Given the description of an element on the screen output the (x, y) to click on. 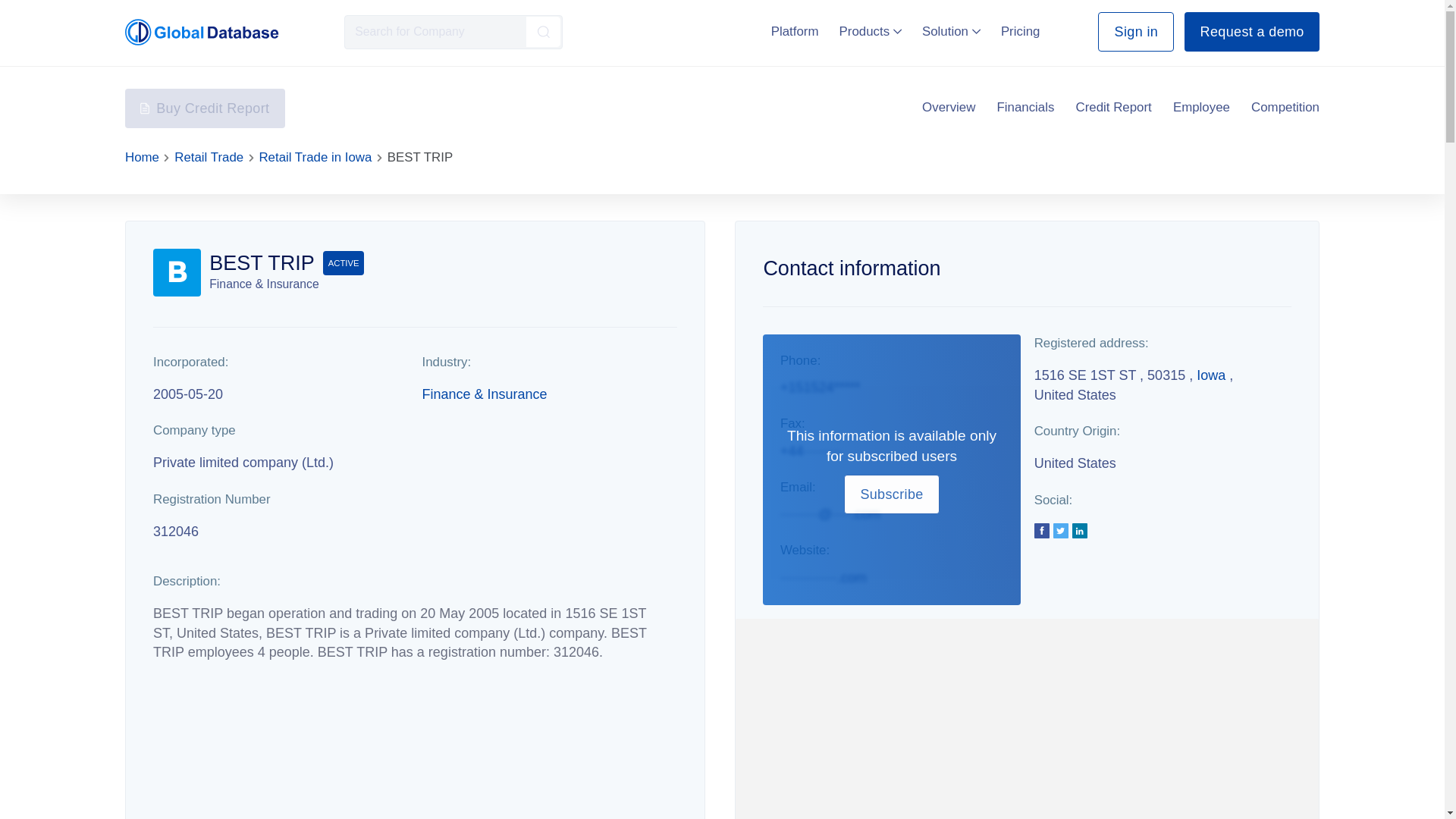
Platform (794, 31)
Employee (1201, 107)
Financials (1024, 107)
Request a demo (1252, 31)
Overview (948, 107)
Competition (1284, 107)
Credit Report (1113, 107)
Pricing (1021, 31)
Buy Credit Report (205, 107)
Sign in (1135, 31)
